Given the description of an element on the screen output the (x, y) to click on. 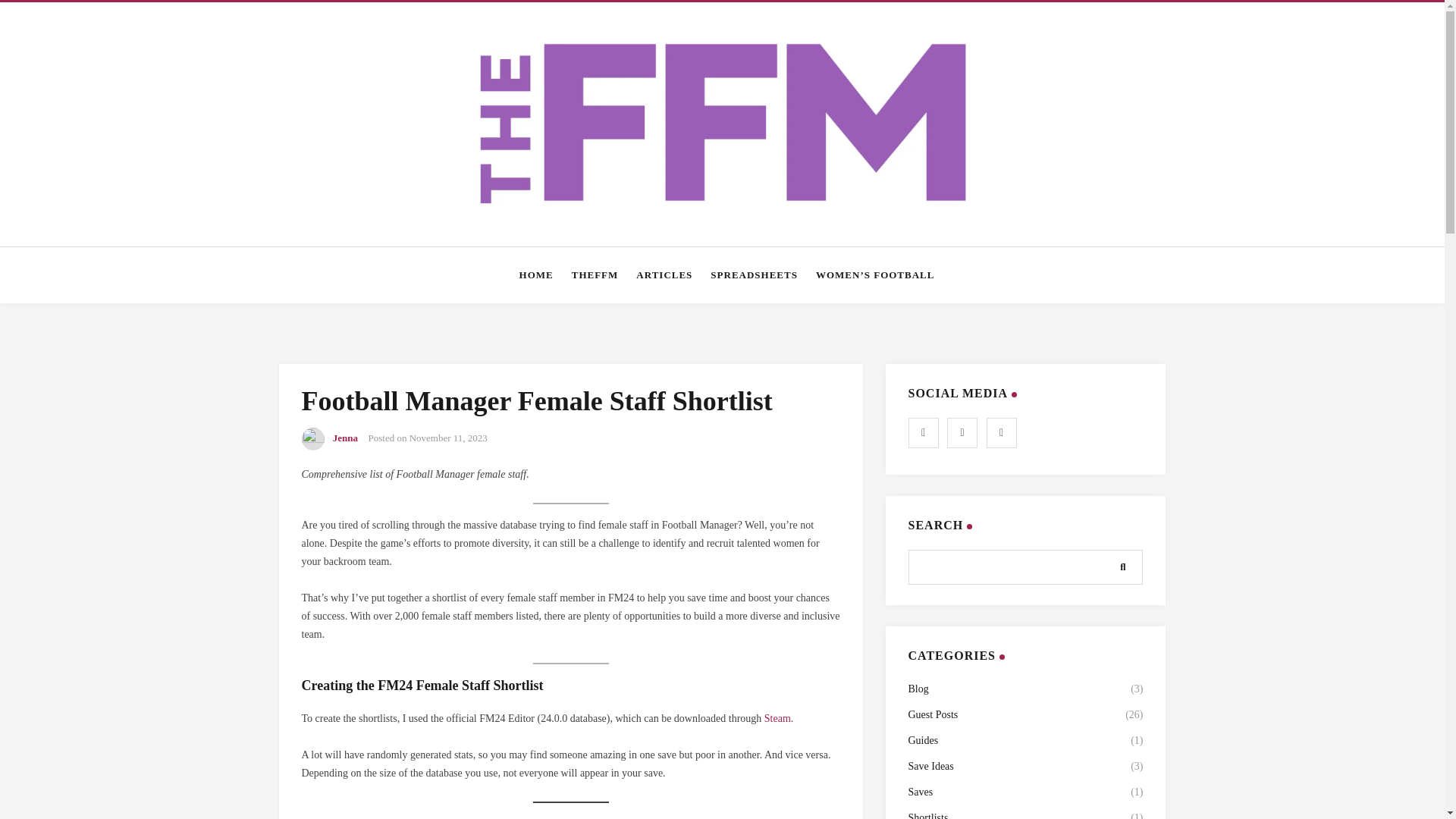
Steam (777, 717)
November 11, 2023 (448, 437)
Jenna (345, 437)
SPREADSHEETS (753, 275)
ARTICLES (664, 275)
